Given the description of an element on the screen output the (x, y) to click on. 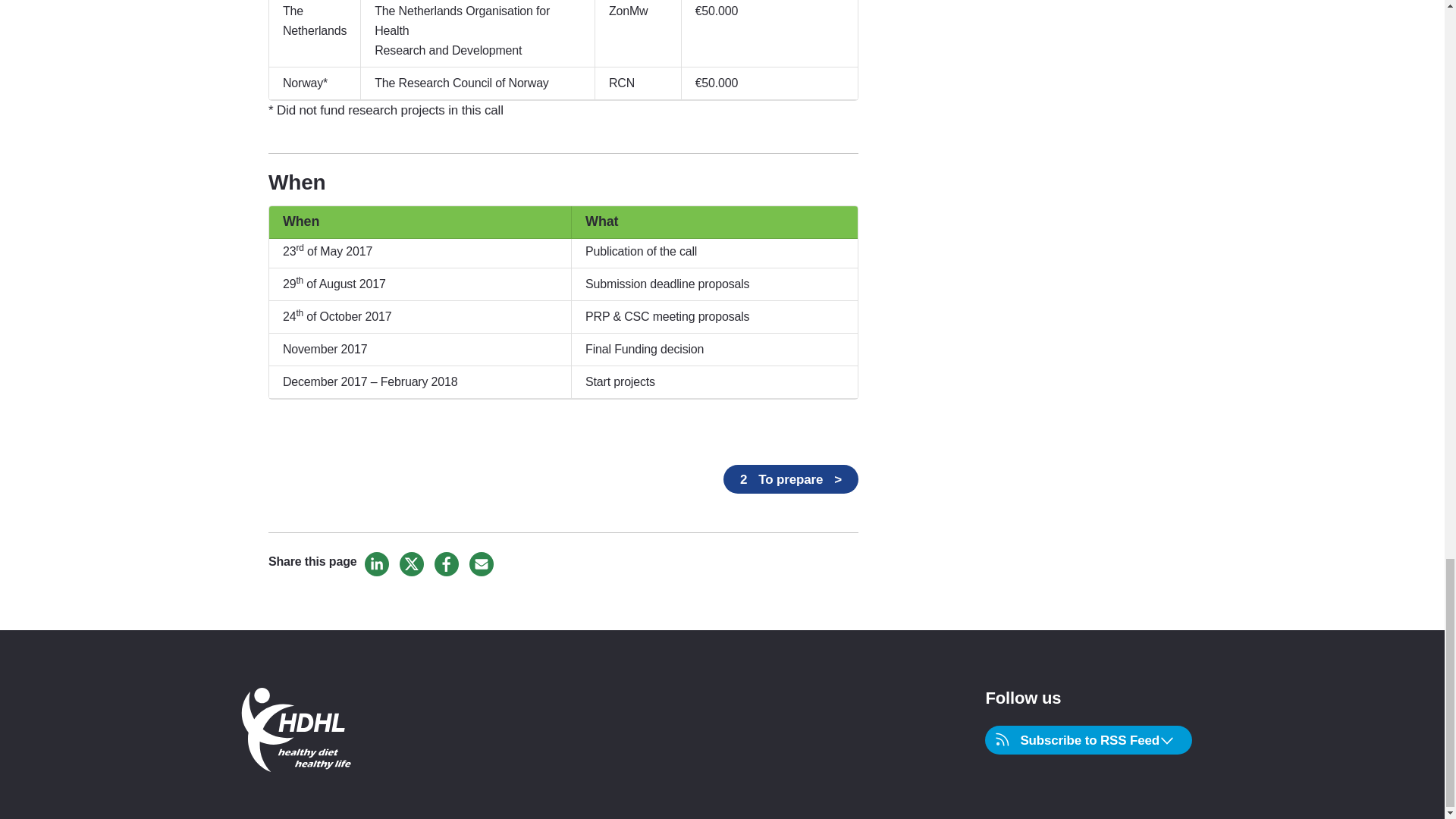
Share this page through e-mail (480, 564)
Share this page on Facebook (445, 564)
Share this page on Twitter (410, 564)
Share this page on LinkedIn (376, 564)
